Given the description of an element on the screen output the (x, y) to click on. 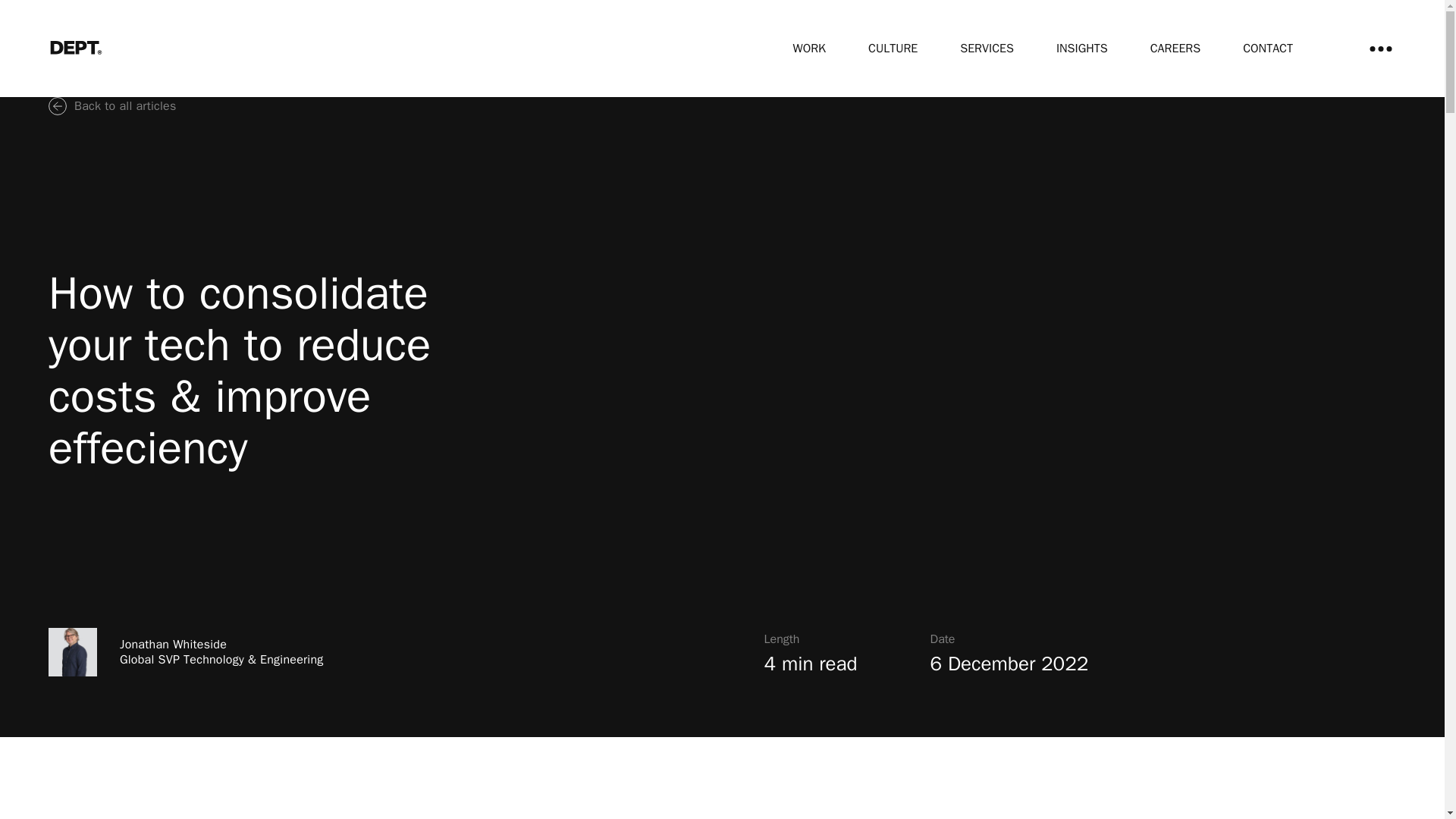
Toggle menu (1380, 48)
SERVICES (986, 48)
CAREERS (1174, 48)
WORK (809, 48)
CONTACT (1267, 48)
INSIGHTS (1082, 48)
CULTURE (892, 48)
